Given the description of an element on the screen output the (x, y) to click on. 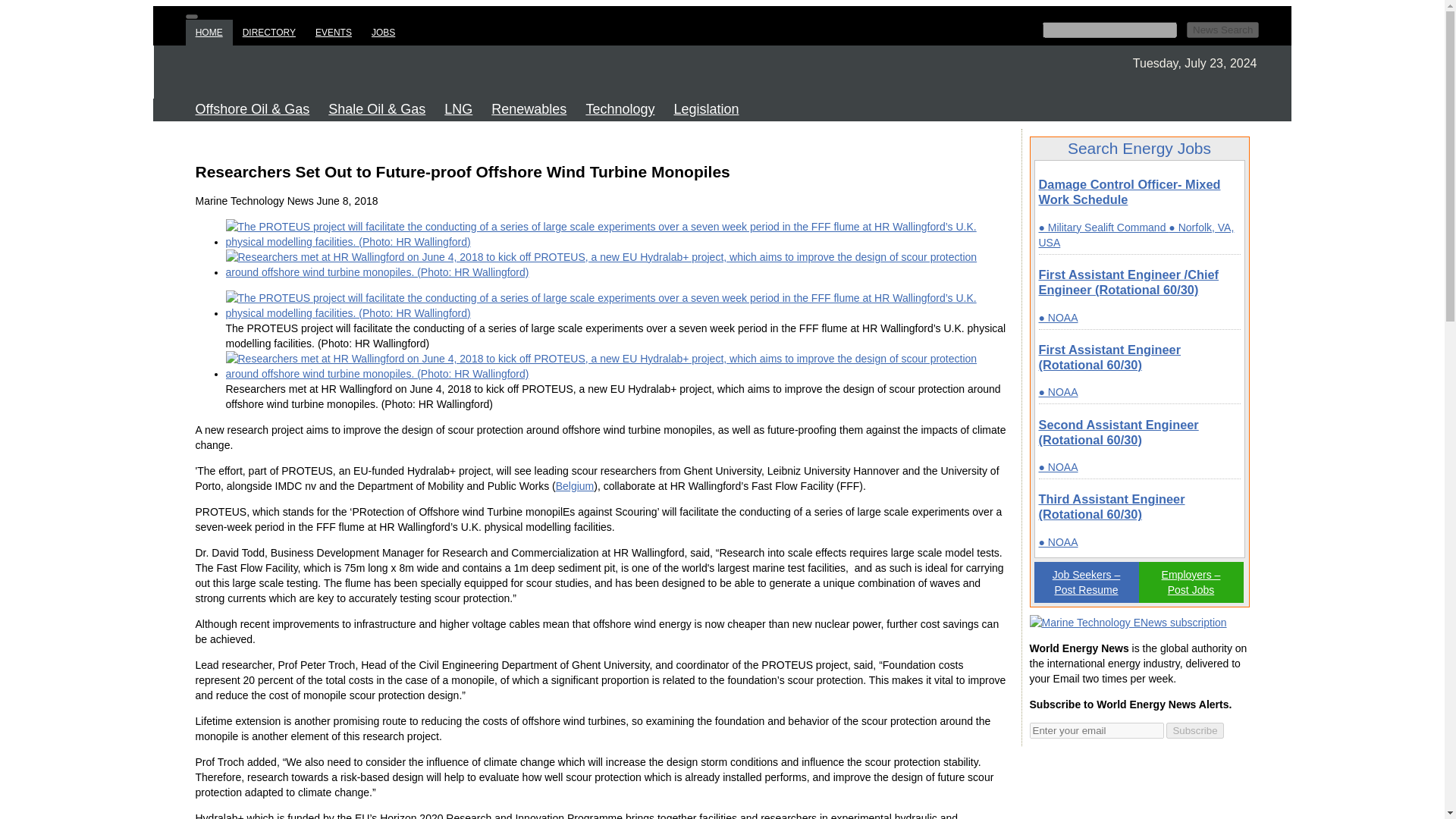
Renewables (530, 109)
LNG (459, 109)
World Energy News (358, 71)
Legislation (707, 109)
JOBS (382, 32)
Belgium (575, 485)
Technology (621, 109)
Search Energy Jobs (1138, 148)
World Energy News (1128, 622)
HOME (209, 32)
EVENTS (333, 32)
Subscribe (1194, 730)
News Search (1222, 29)
News Search (1222, 29)
DIRECTORY (268, 32)
